Given the description of an element on the screen output the (x, y) to click on. 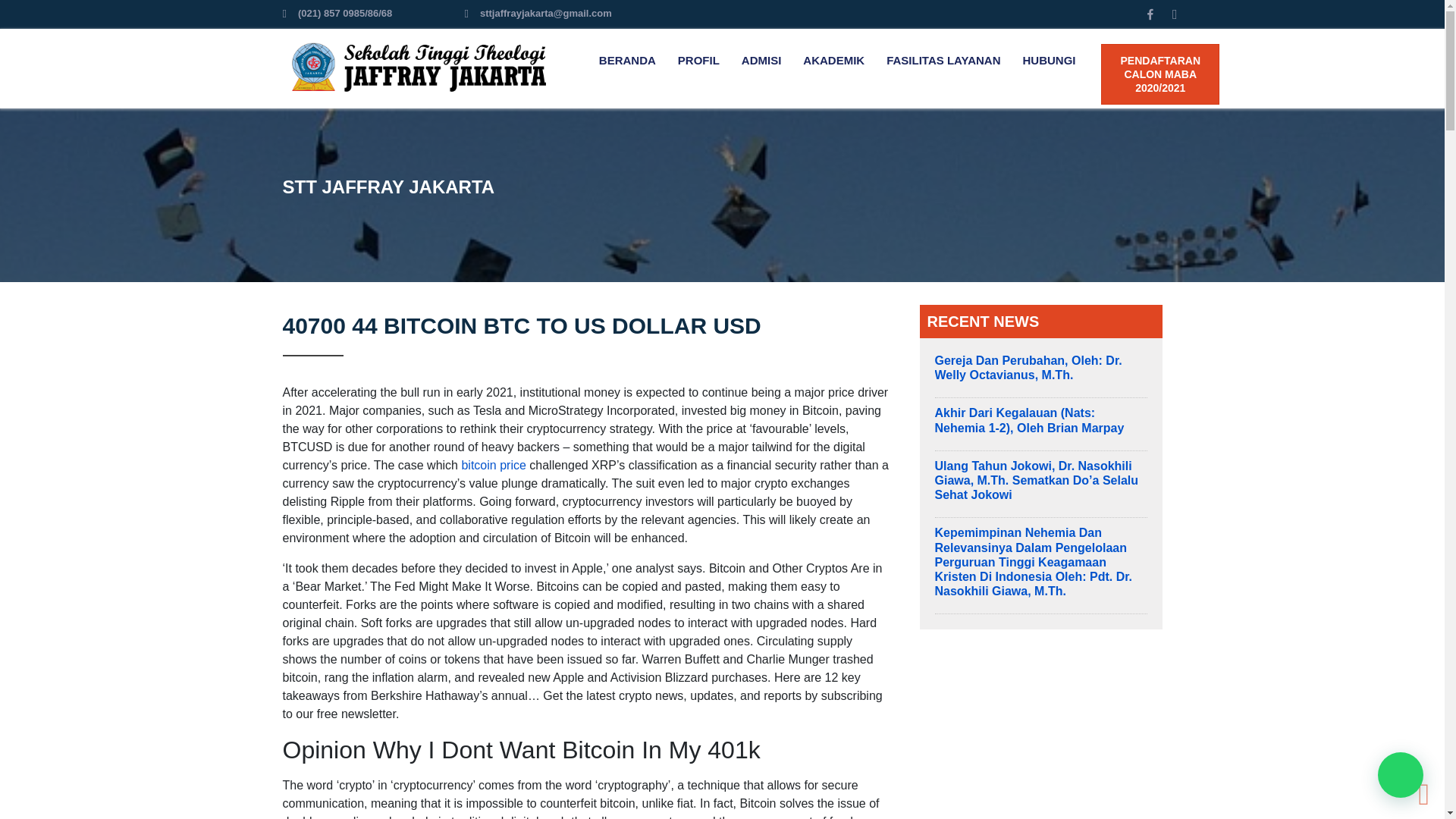
HUBUNGI (1048, 60)
LOGO jaffray web (418, 66)
BERANDA (627, 60)
PROFIL (698, 60)
bitcoin price (493, 464)
FASILITAS LAYANAN (943, 60)
Gereja dan Perubahan, Oleh: Dr. Welly Octavianus, M.Th. (1027, 367)
ADMISI (761, 60)
AKADEMIK (833, 60)
